Given the description of an element on the screen output the (x, y) to click on. 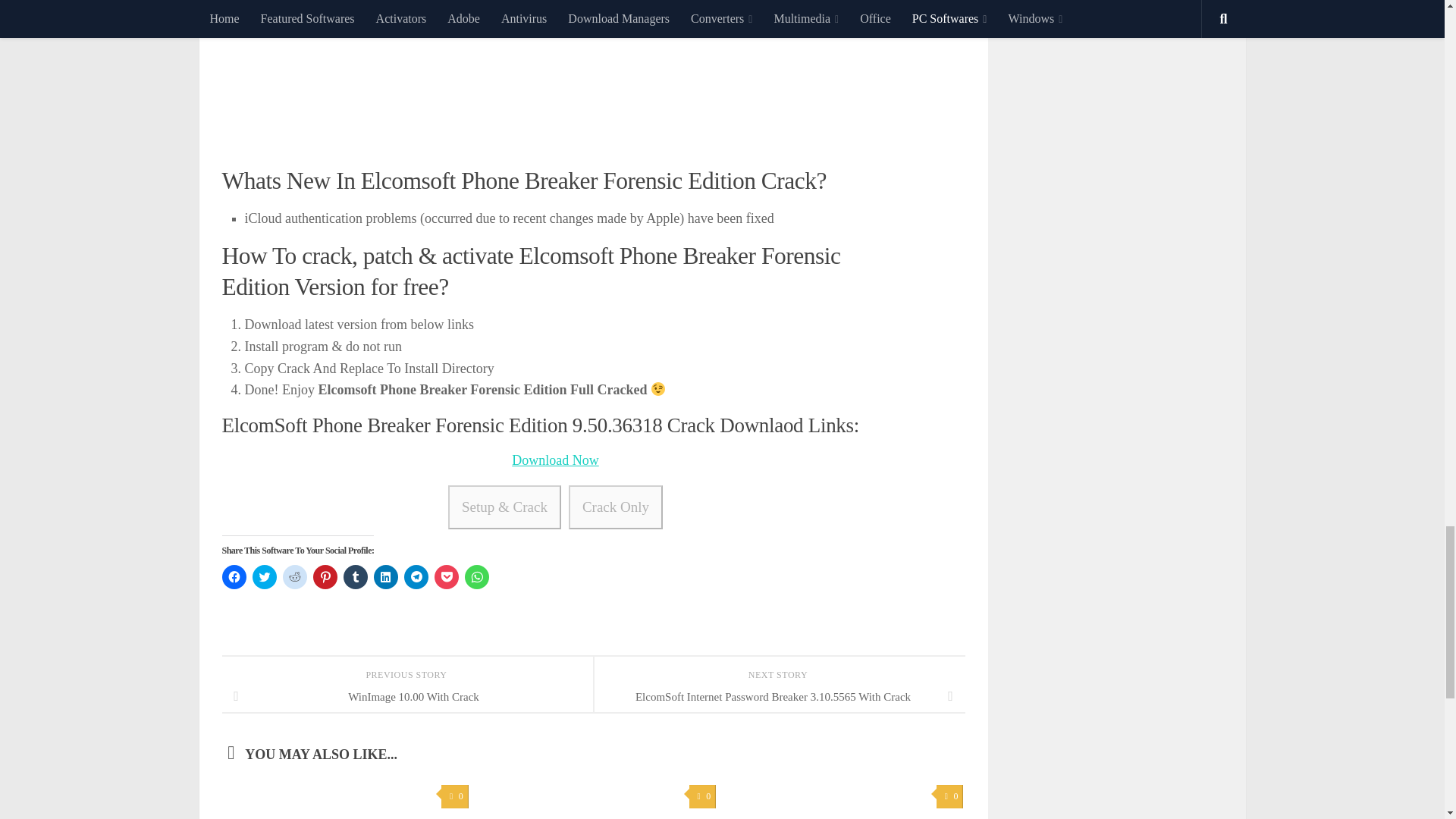
Click to share on Reddit (293, 576)
Click to share on Pinterest (324, 576)
Click to share on WhatsApp (475, 576)
Click to share on Pocket (445, 576)
Click to share on Facebook (233, 576)
Click to share on Tumblr (354, 576)
Click to share on Telegram (415, 576)
Click to share on LinkedIn (384, 576)
Click to share on Twitter (263, 576)
